Given the description of an element on the screen output the (x, y) to click on. 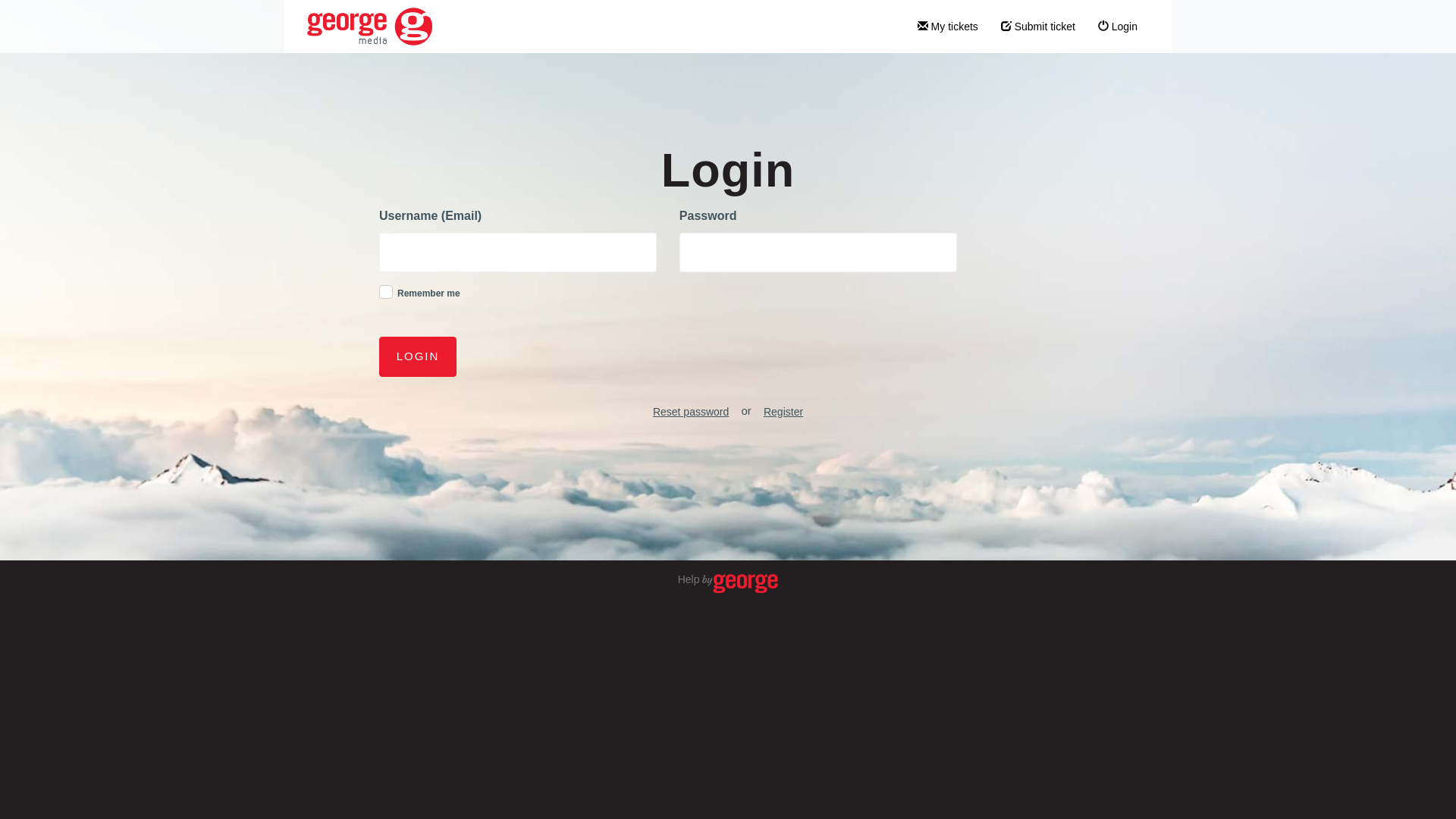
Submit ticket Element type: text (1037, 26)
Help Element type: text (727, 579)
My tickets Element type: text (947, 26)
Login Element type: text (1117, 26)
